Given the description of an element on the screen output the (x, y) to click on. 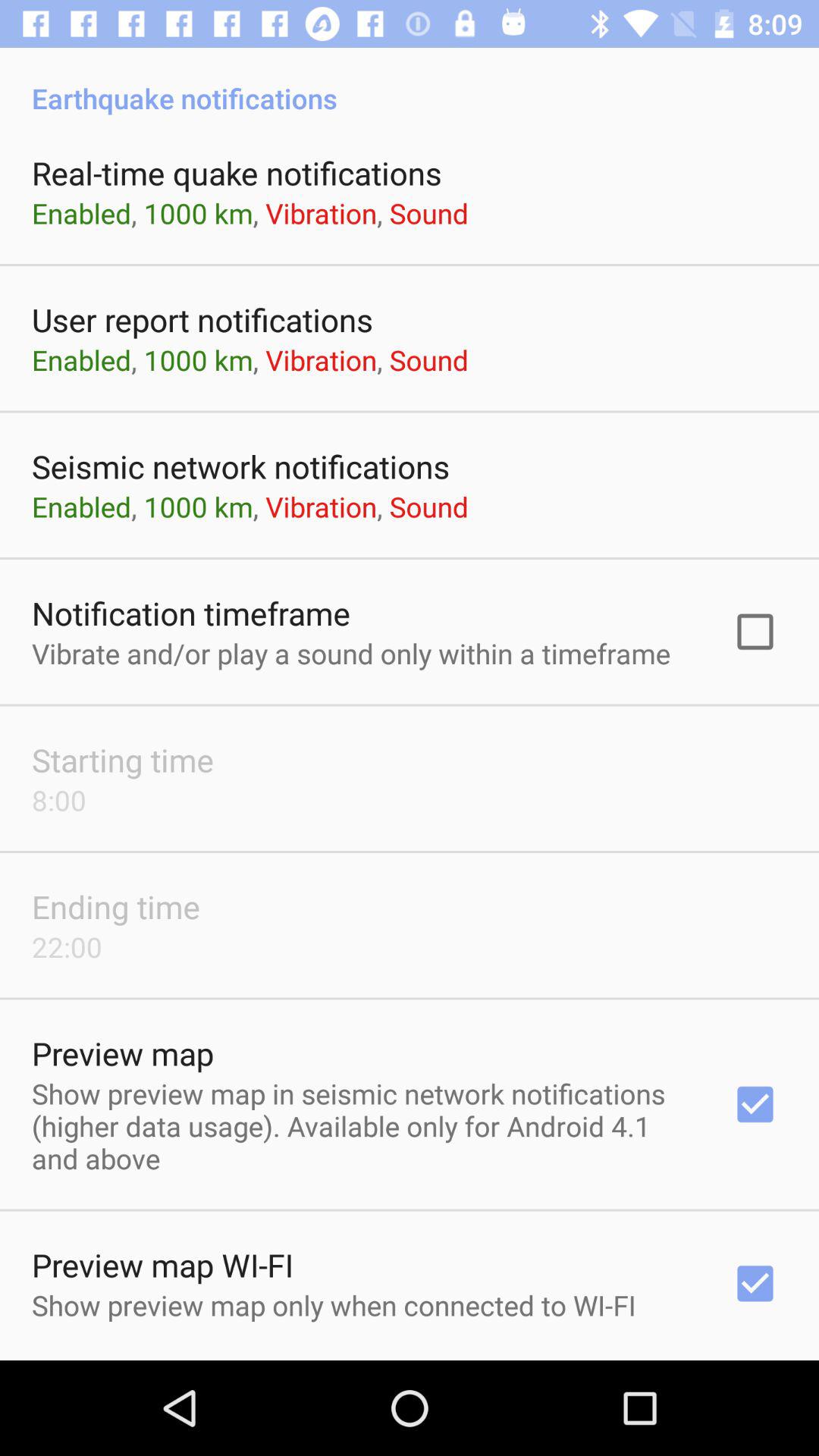
press ending time (115, 906)
